Given the description of an element on the screen output the (x, y) to click on. 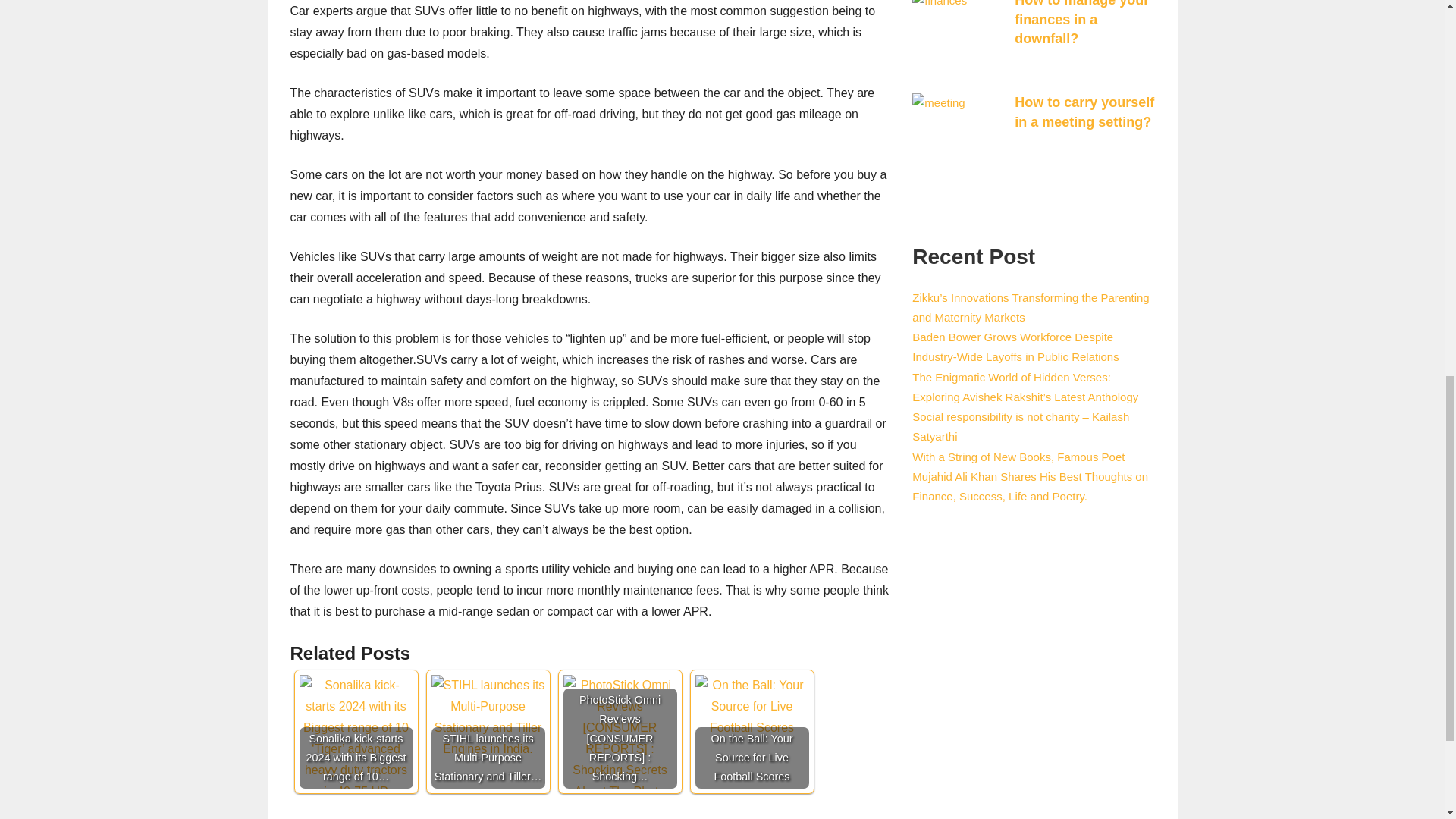
How to manage your finances in a downfall? (1081, 22)
On the Ball: Your Source for Live Football Scores (751, 731)
On the Ball: Your Source for Live Football Scores (751, 706)
